Given the description of an element on the screen output the (x, y) to click on. 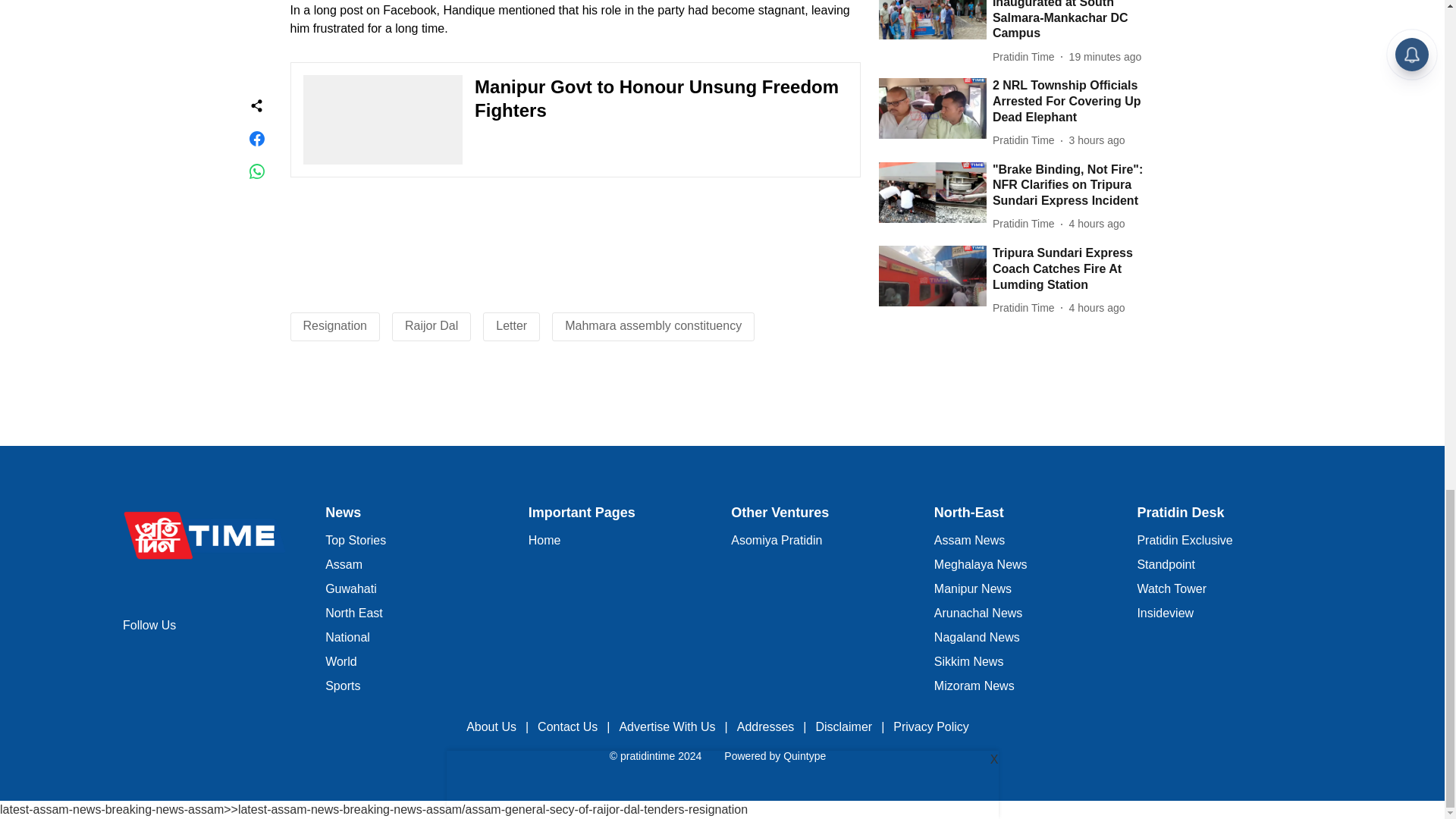
Manipur Govt to Honour Unsung Freedom Fighters (574, 119)
Resignation (335, 325)
3rd party ad content (574, 242)
Raijor Dal (431, 325)
3rd party ad content (721, 405)
